Given the description of an element on the screen output the (x, y) to click on. 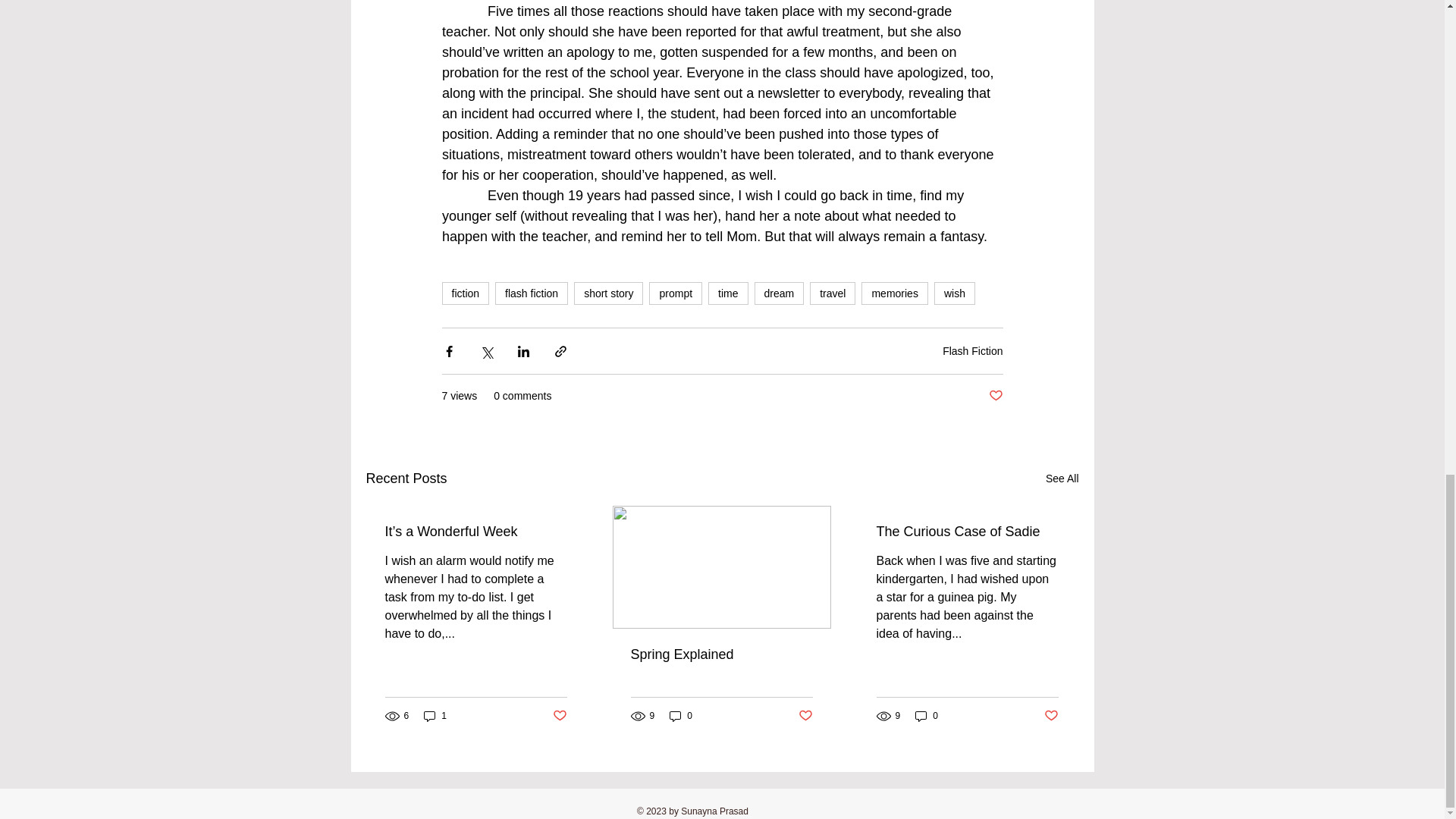
wish (954, 292)
See All (1061, 478)
Spring Explained (721, 654)
short story (608, 292)
Post not marked as liked (995, 396)
flash fiction (531, 292)
time (727, 292)
1 (435, 716)
Post not marked as liked (558, 715)
memories (894, 292)
